Given the description of an element on the screen output the (x, y) to click on. 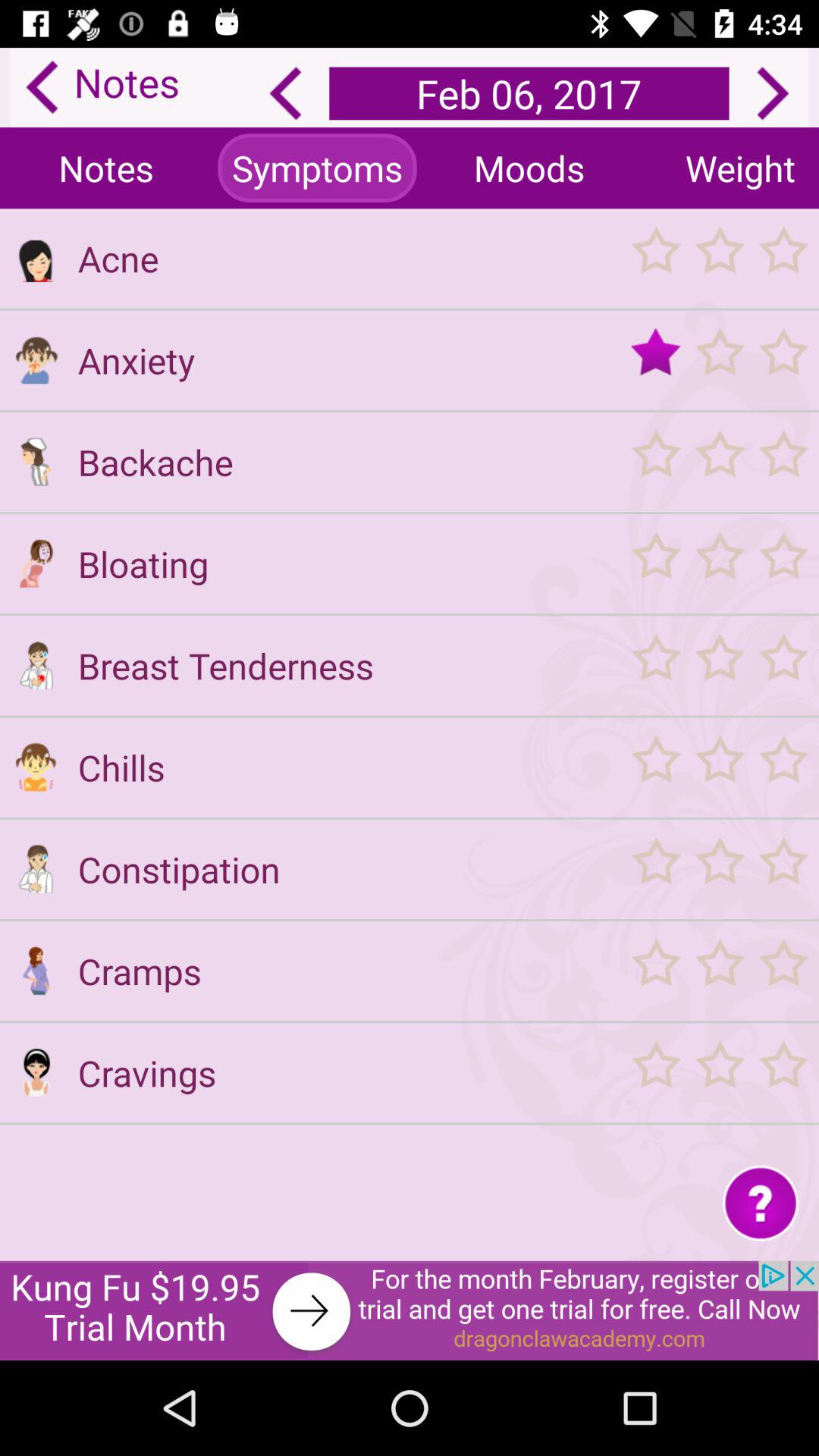
get help (760, 1202)
